Given the description of an element on the screen output the (x, y) to click on. 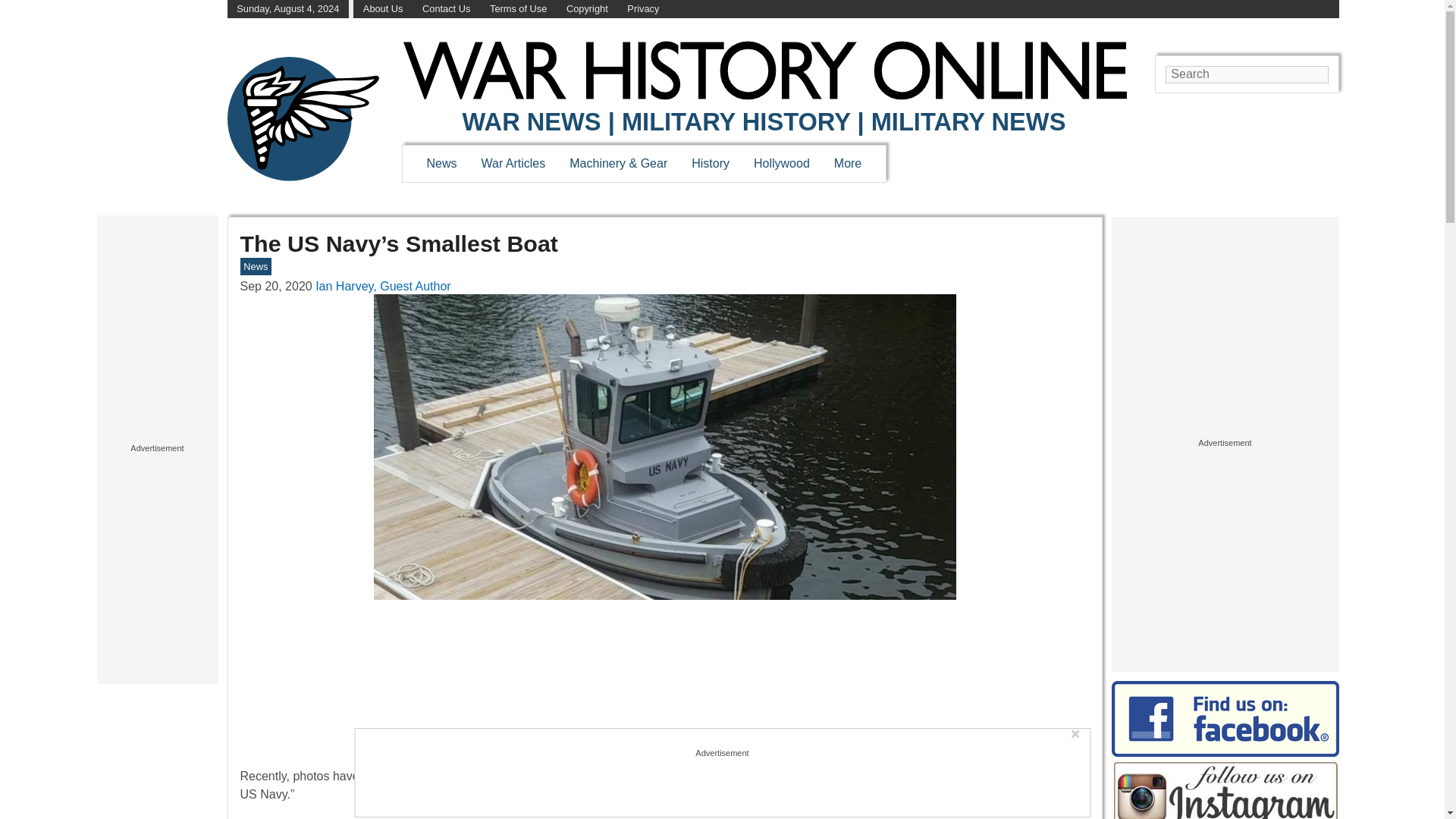
About Us (382, 8)
Copyright (587, 8)
History (710, 163)
War Articles (513, 163)
Privacy (643, 8)
News (441, 163)
Terms of Use (518, 8)
Contact Us (446, 8)
More (847, 163)
Hollywood (781, 163)
